Given the description of an element on the screen output the (x, y) to click on. 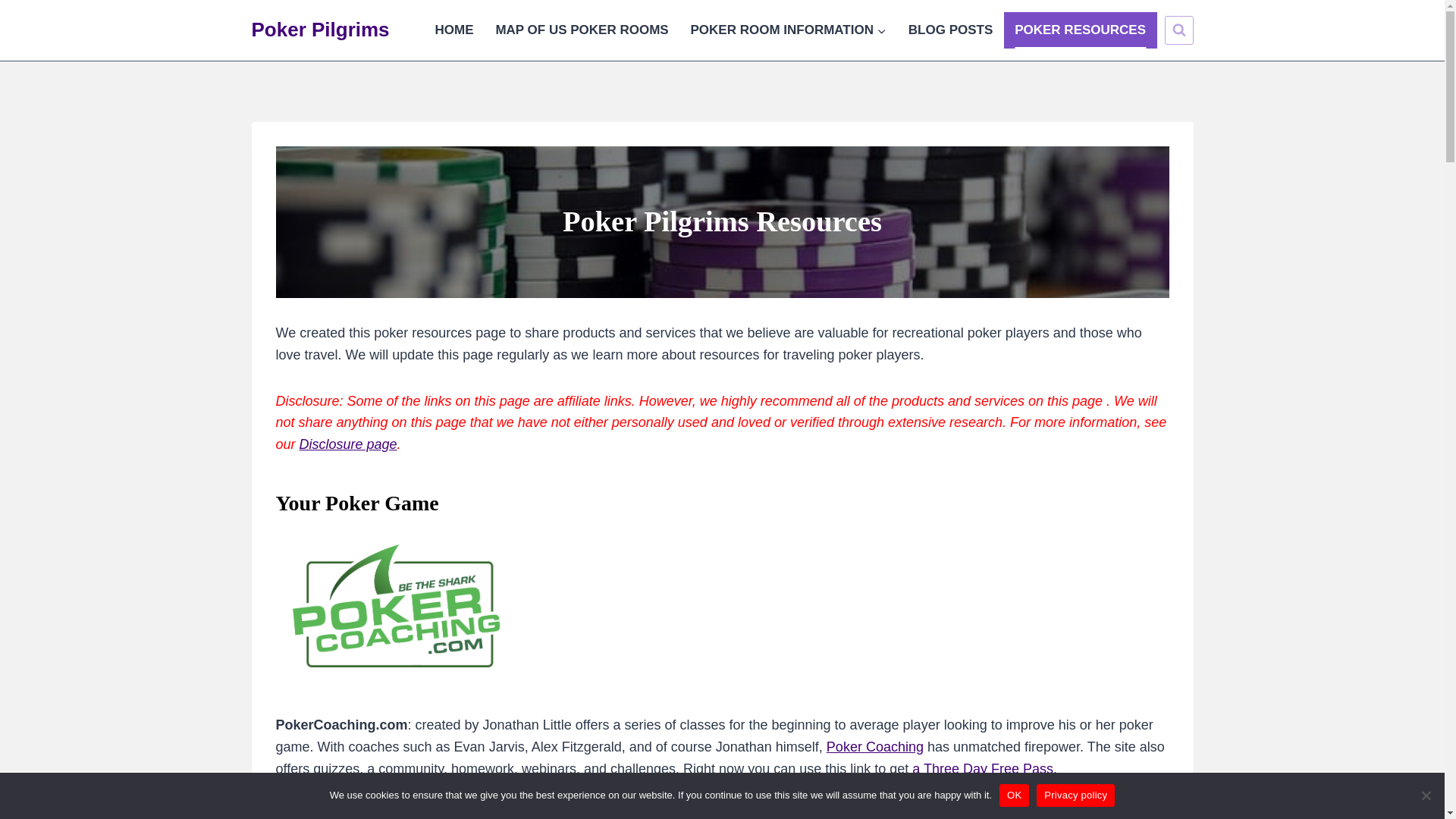
Disclosure page (348, 444)
a Three Day Free Pass (982, 768)
HOME (453, 30)
POKER ROOM INFORMATION (787, 30)
Poker Pilgrims (320, 29)
POKER RESOURCES (1080, 30)
MAP OF US POKER ROOMS (581, 30)
No (1425, 795)
Poker Coaching (875, 746)
BLOG POSTS (949, 30)
